Given the description of an element on the screen output the (x, y) to click on. 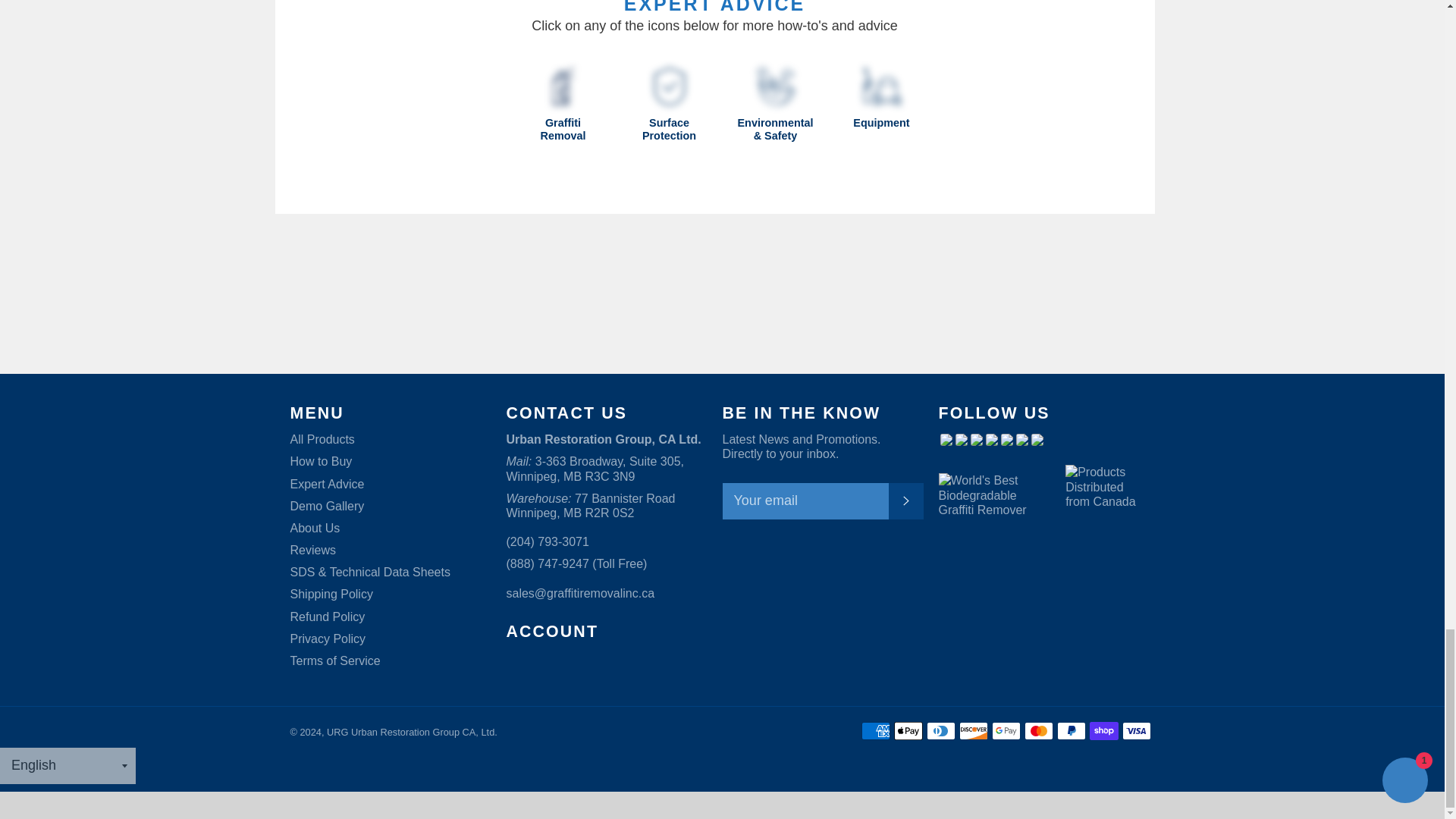
Graffiti Removal (562, 86)
